Given the description of an element on the screen output the (x, y) to click on. 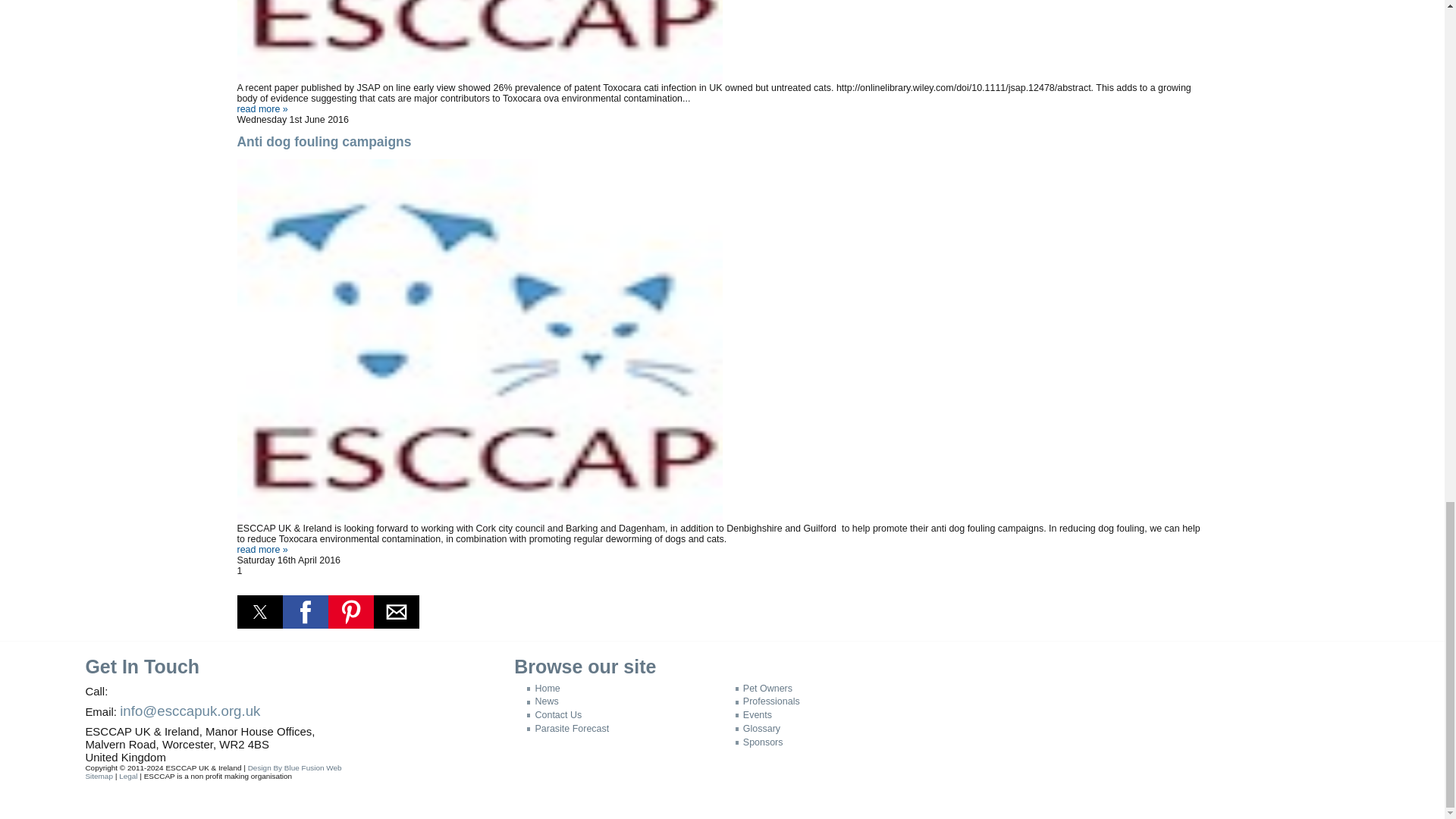
Toxocara cati infection in UK owned but untreated cats (260, 109)
Sitemap (98, 776)
Legal (127, 776)
Contact Us (553, 715)
Events (753, 715)
Anti dog fouling campaigns (260, 549)
Parasite Forecast (567, 728)
Home (543, 688)
Professionals (767, 701)
News (542, 701)
Glossary (757, 728)
Toxocara cati infection in UK owned but untreated cats Photo (721, 41)
Sponsors (759, 742)
Pet Owners (763, 688)
Design By Blue Fusion Web (294, 767)
